Given the description of an element on the screen output the (x, y) to click on. 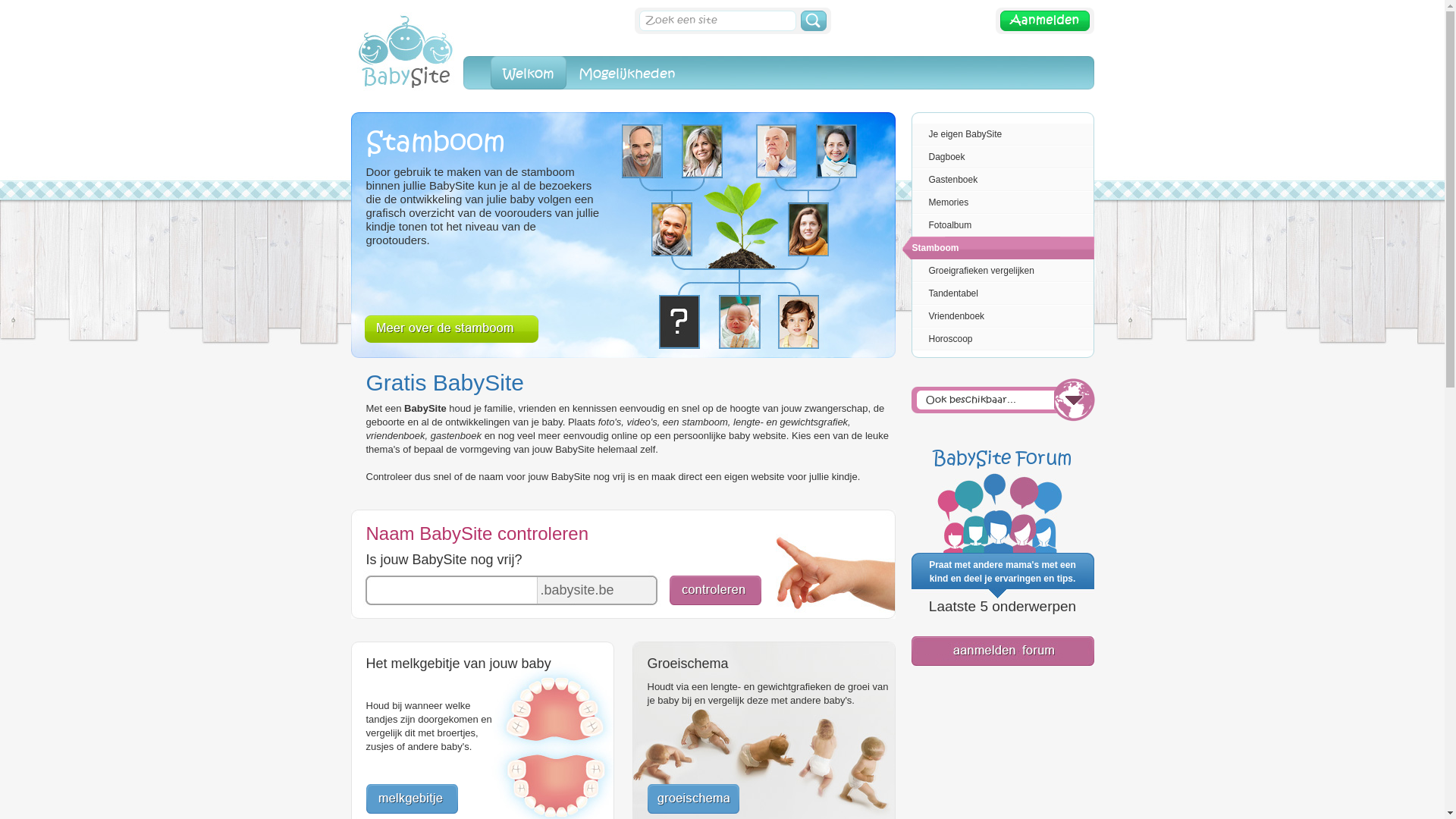
Mogelijkheden Element type: text (626, 72)
Naam site controleren Element type: hover (714, 601)
Welkom Element type: text (527, 72)
Je eigen BabySite Element type: text (998, 133)
Horoscoop Element type: text (998, 338)
Stamboom Element type: text (998, 247)
Fotoalbum Element type: text (998, 224)
babysite.be Element type: hover (406, 108)
Groeigrafieken vergelijken Element type: text (998, 270)
Dagboek Element type: text (998, 156)
Aanmelden Element type: hover (1043, 30)
Tandentabel Element type: text (998, 293)
Vriendenboek Element type: text (998, 315)
Meer informatie over de stamboom Element type: hover (450, 330)
Aanmelden forum Element type: hover (1002, 662)
Gastenboek Element type: text (998, 179)
Memories Element type: text (998, 202)
